Given the description of an element on the screen output the (x, y) to click on. 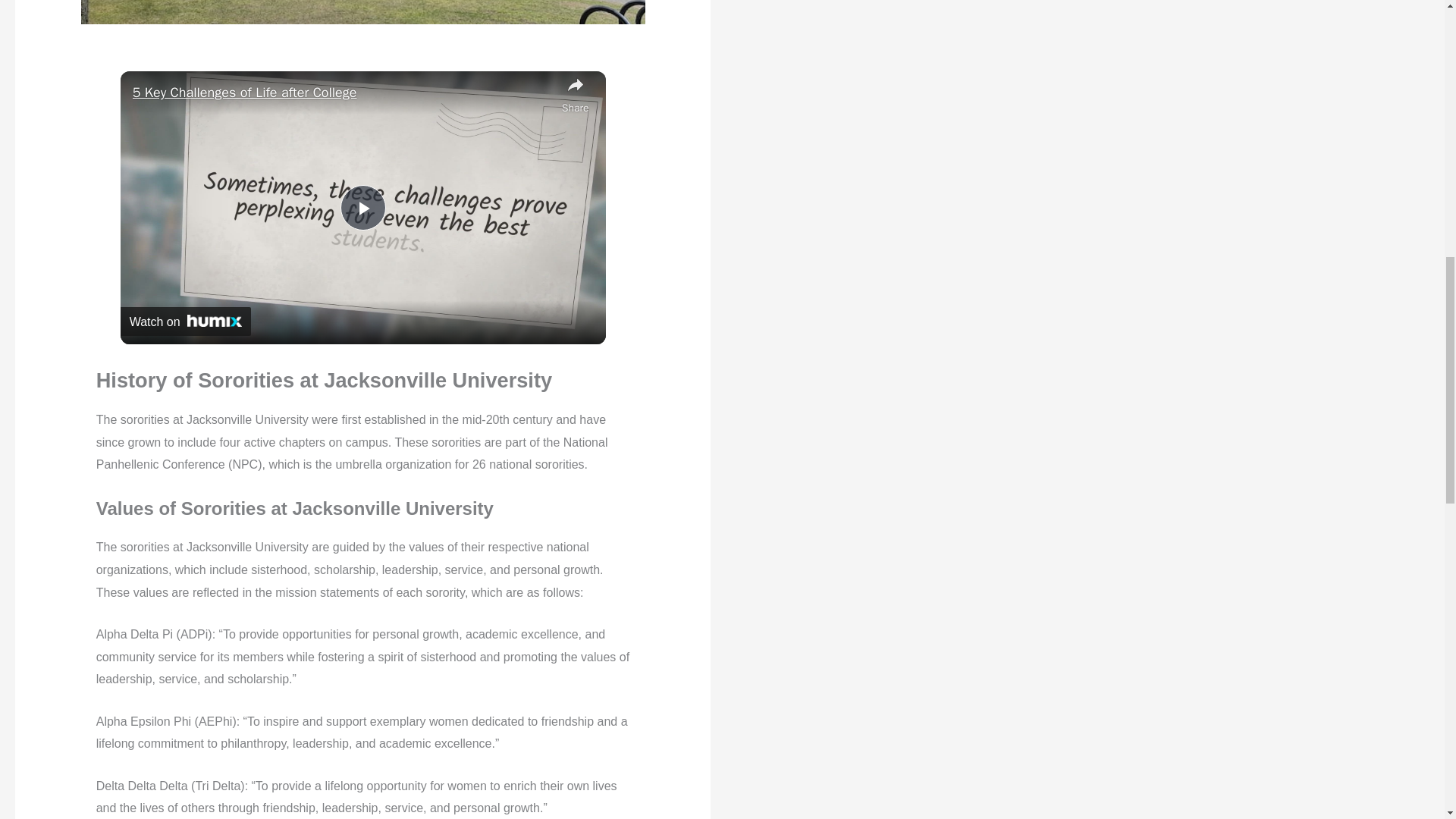
Play Video (362, 207)
